Given the description of an element on the screen output the (x, y) to click on. 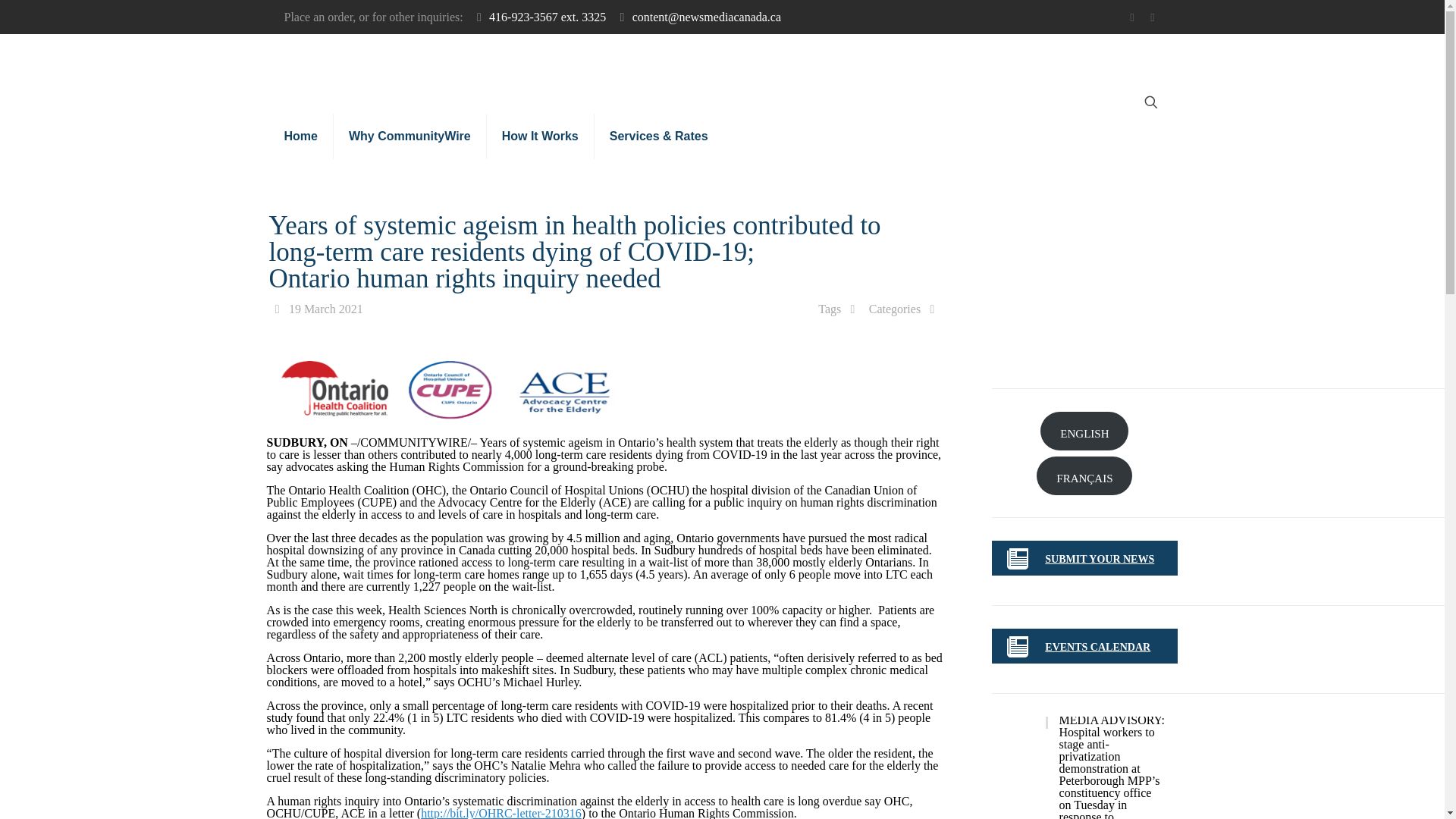
ENGLISH (1084, 430)
EVENTS CALENDAR (1097, 646)
Home (300, 136)
CommunityWire (645, 68)
416-923-3567 ext. 3325 (547, 16)
SUBMIT YOUR NEWS (1099, 559)
How It Works (540, 136)
RSS (1152, 17)
Why CommunityWire (409, 136)
Twitter (1132, 17)
